Given the description of an element on the screen output the (x, y) to click on. 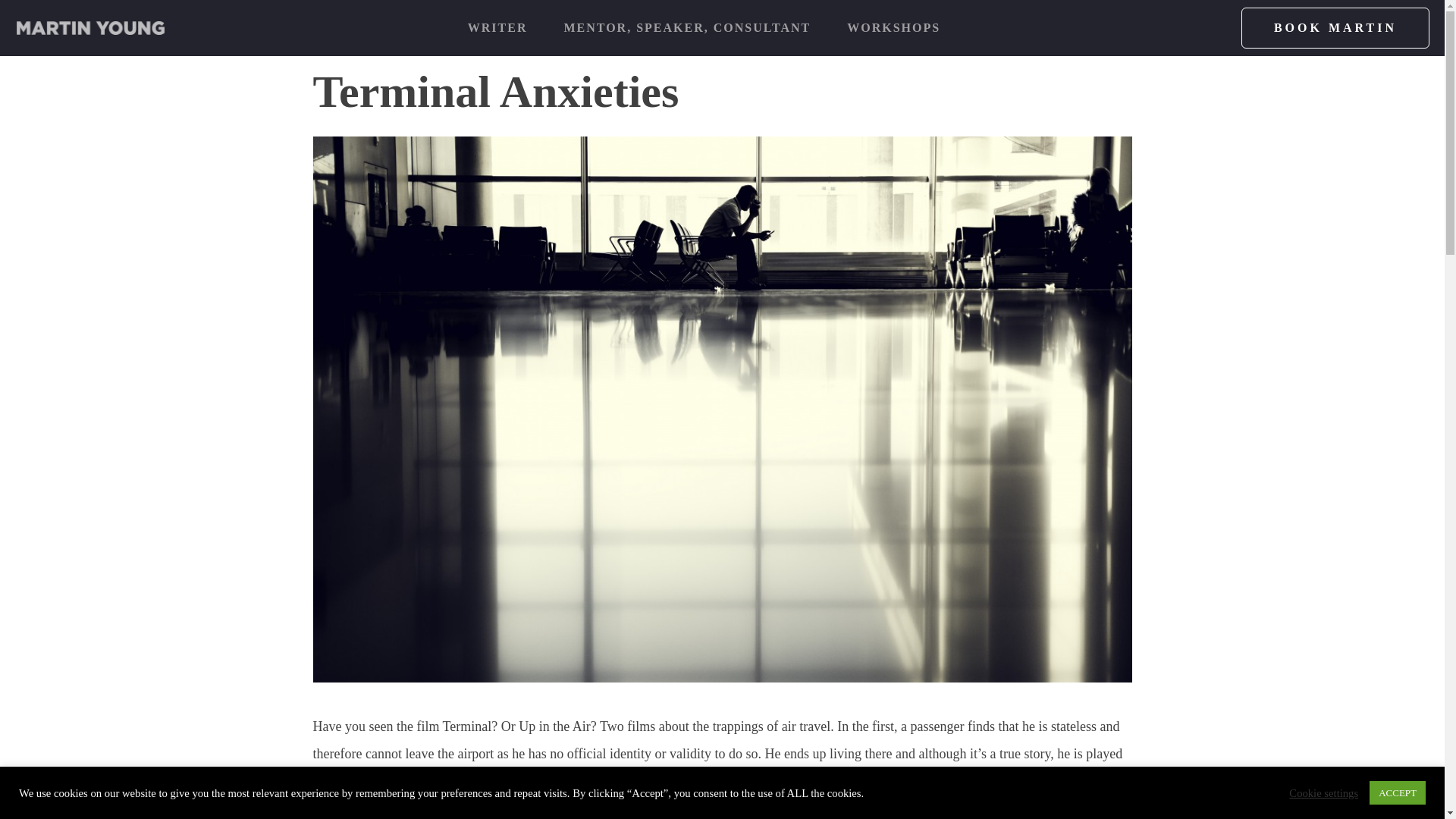
Cookie settings (1323, 792)
WORKSHOPS (893, 28)
ACCEPT (1397, 792)
WRITER (497, 28)
MENTOR, SPEAKER, CONSULTANT (686, 28)
BOOK MARTIN (1335, 27)
